Given the description of an element on the screen output the (x, y) to click on. 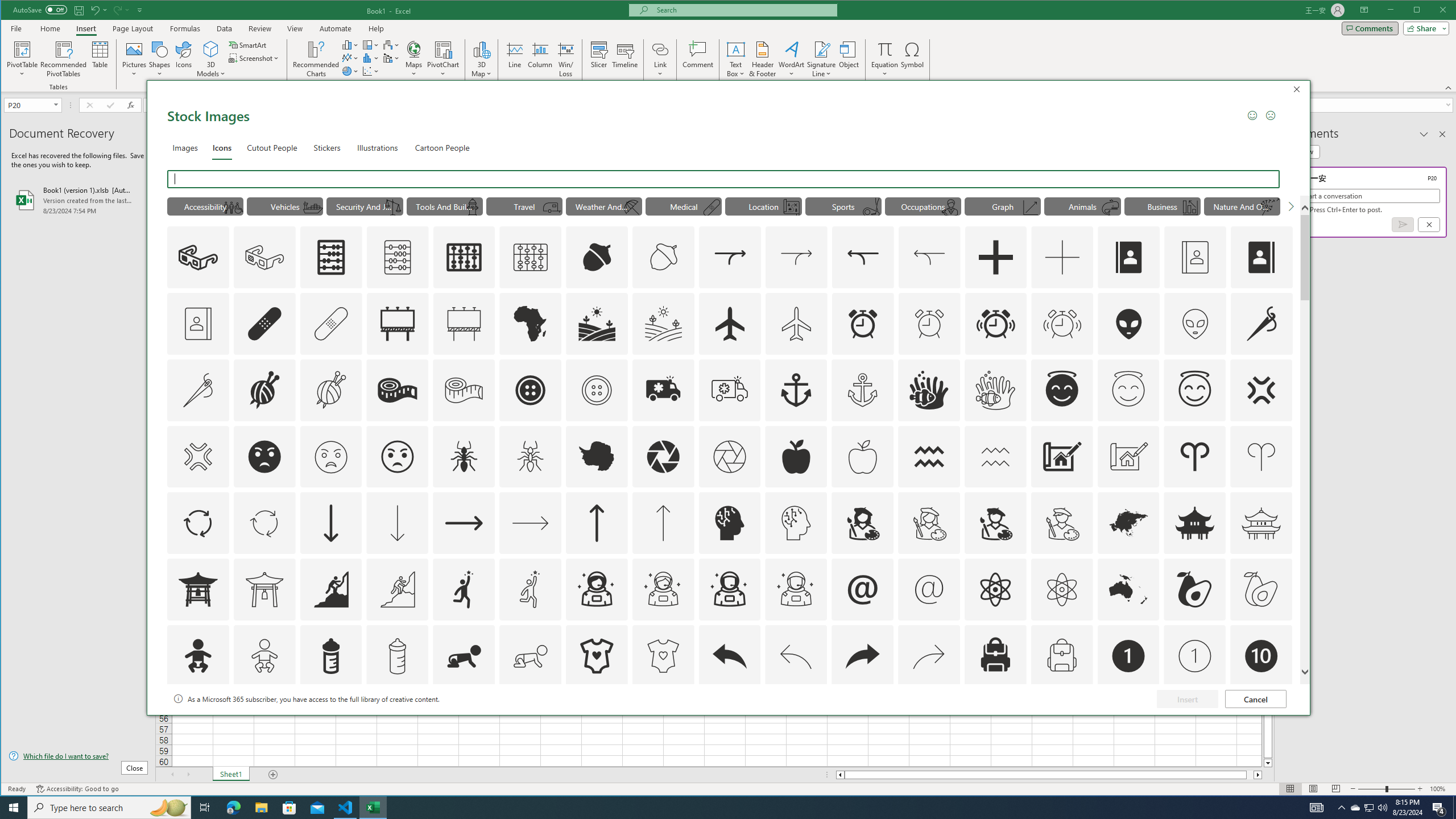
"Accessibility" Icons. (205, 206)
"Business" Icons. (1162, 206)
outline (1194, 389)
AutomationID: Icons_AlarmClock (863, 323)
Type here to search (108, 807)
SmartArt... (248, 44)
Link (659, 59)
"Vehicles" Icons. (285, 206)
AutomationID: Icons_Badge8_M (1128, 721)
3D Map (481, 59)
AutomationID: Icons_BabyBottle (330, 655)
AutomationID: Icons_ArtificialIntelligence (729, 522)
